Given the description of an element on the screen output the (x, y) to click on. 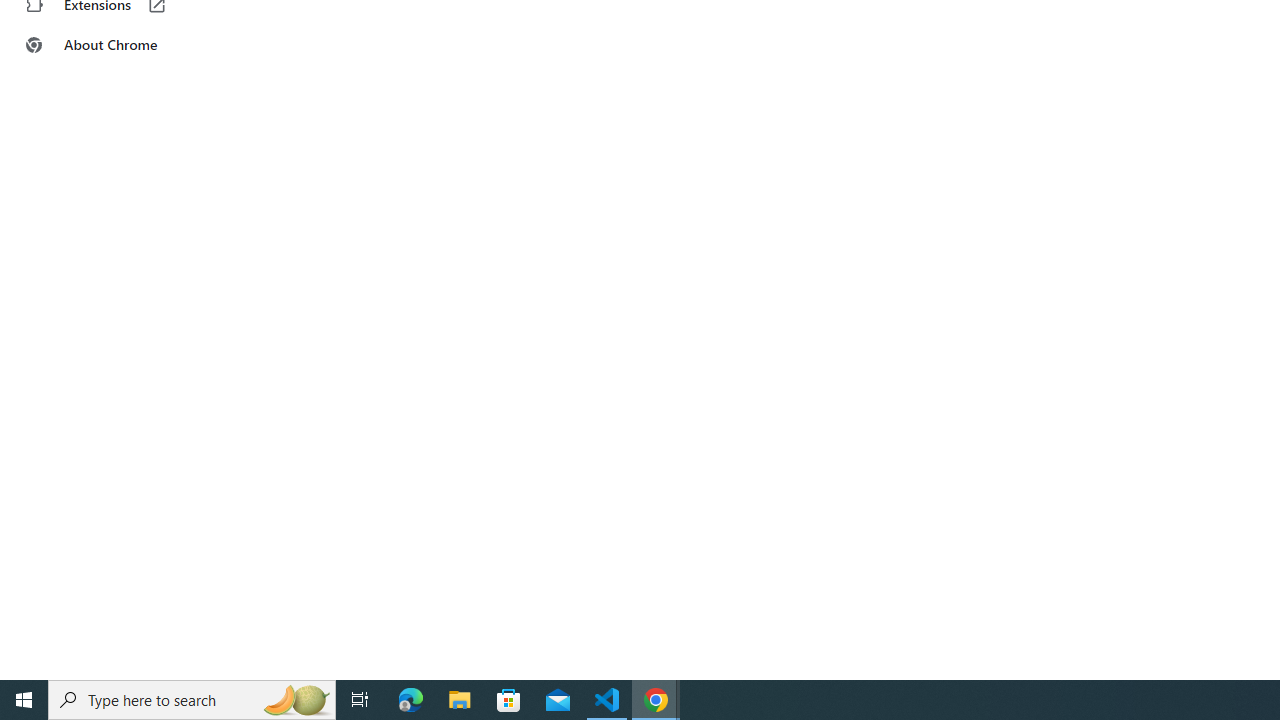
About Chrome (124, 44)
